Given the description of an element on the screen output the (x, y) to click on. 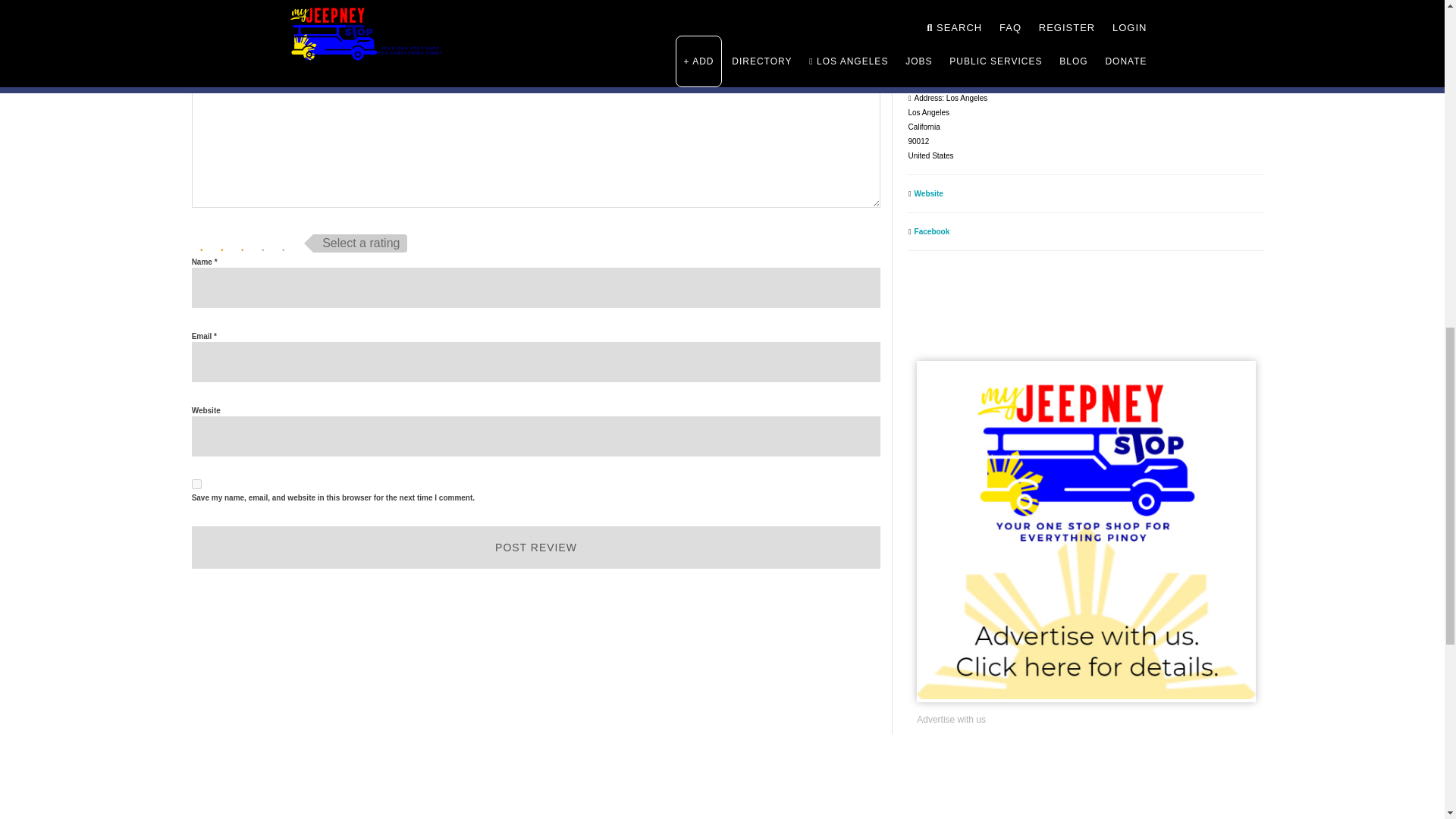
Poor (221, 242)
Post Review (536, 547)
Average (241, 242)
Excellent (284, 242)
Very Good (263, 242)
yes (197, 483)
Terrible (201, 242)
